Given the description of an element on the screen output the (x, y) to click on. 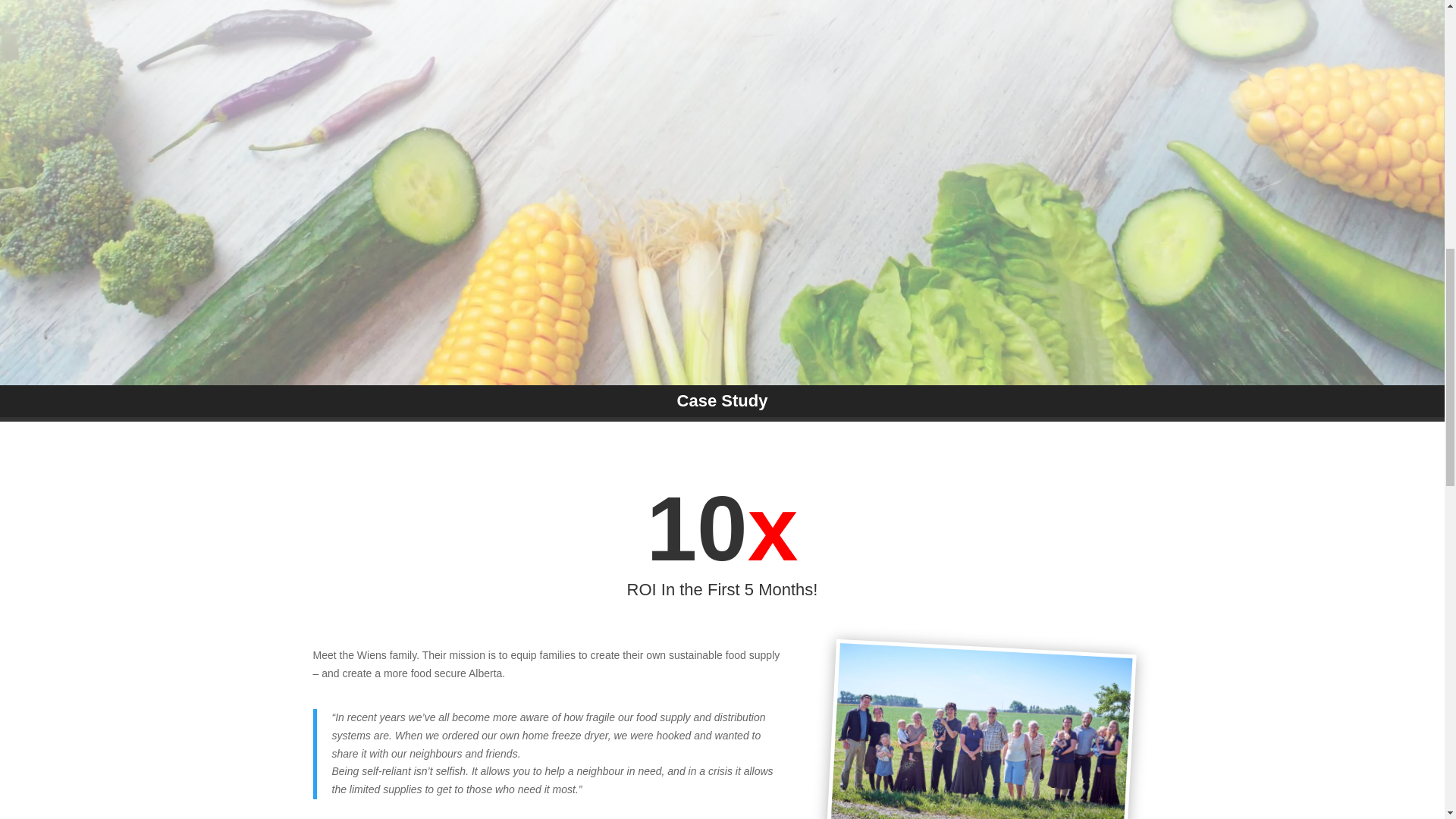
Family-1.jpg (975, 730)
